Given the description of an element on the screen output the (x, y) to click on. 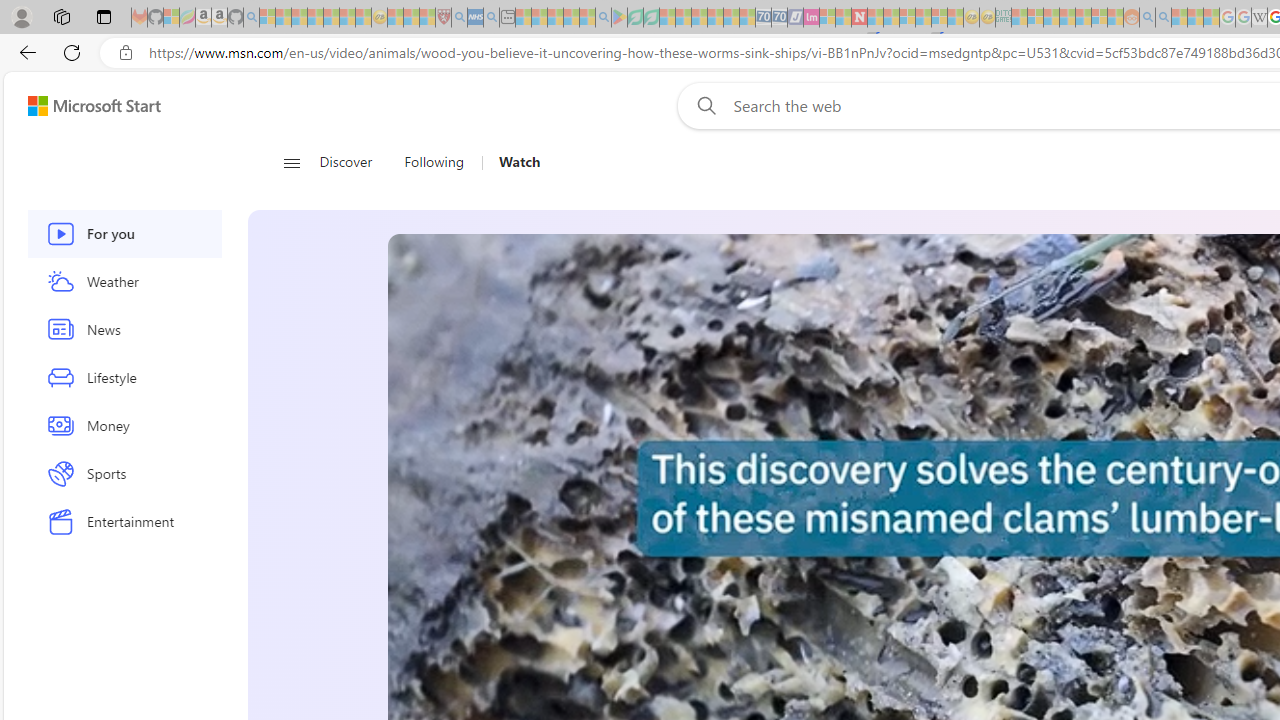
Class: button-glyph (290, 162)
